Given the description of an element on the screen output the (x, y) to click on. 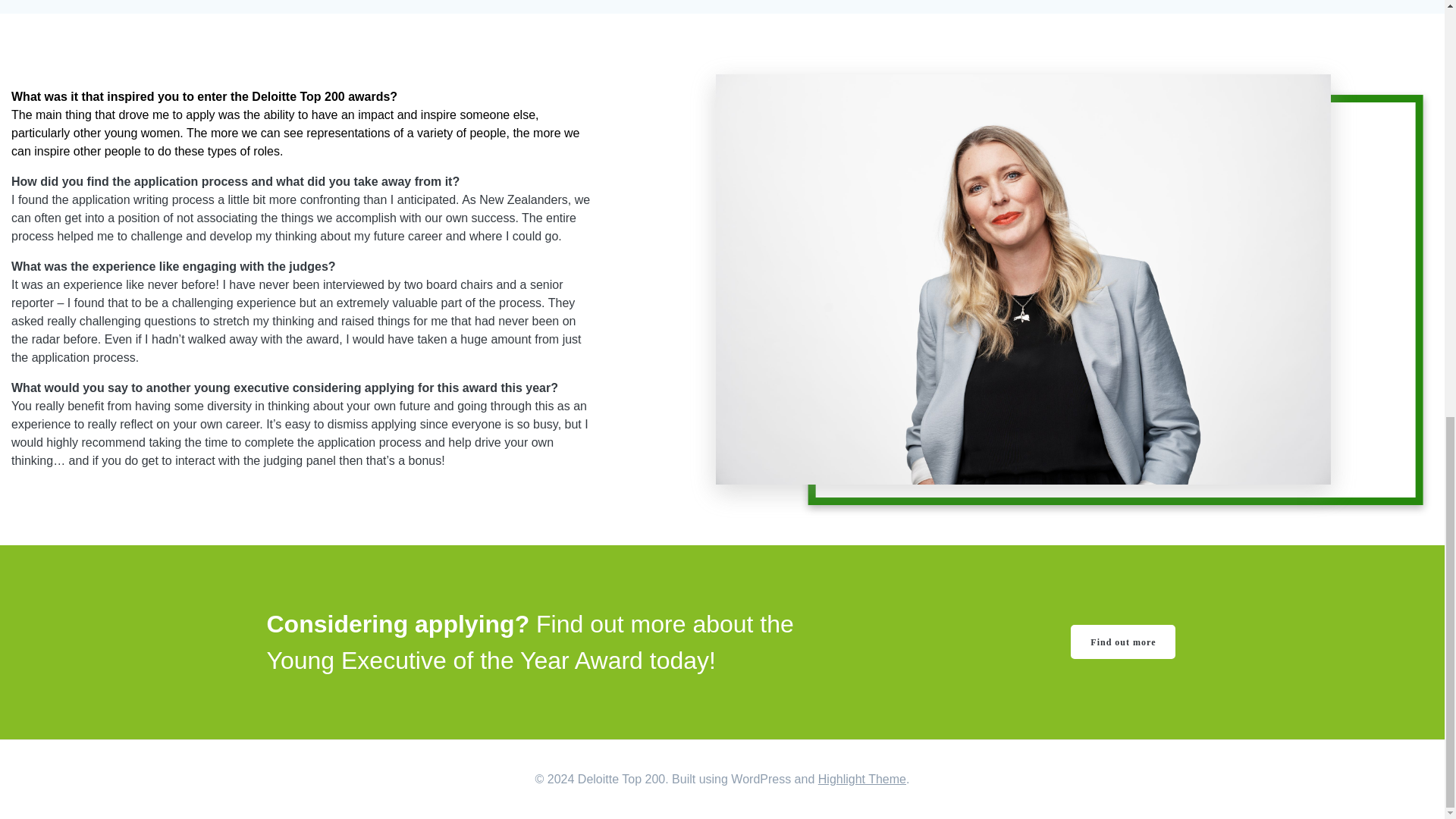
Find out more (1122, 642)
Highlight Theme (861, 779)
